Given the description of an element on the screen output the (x, y) to click on. 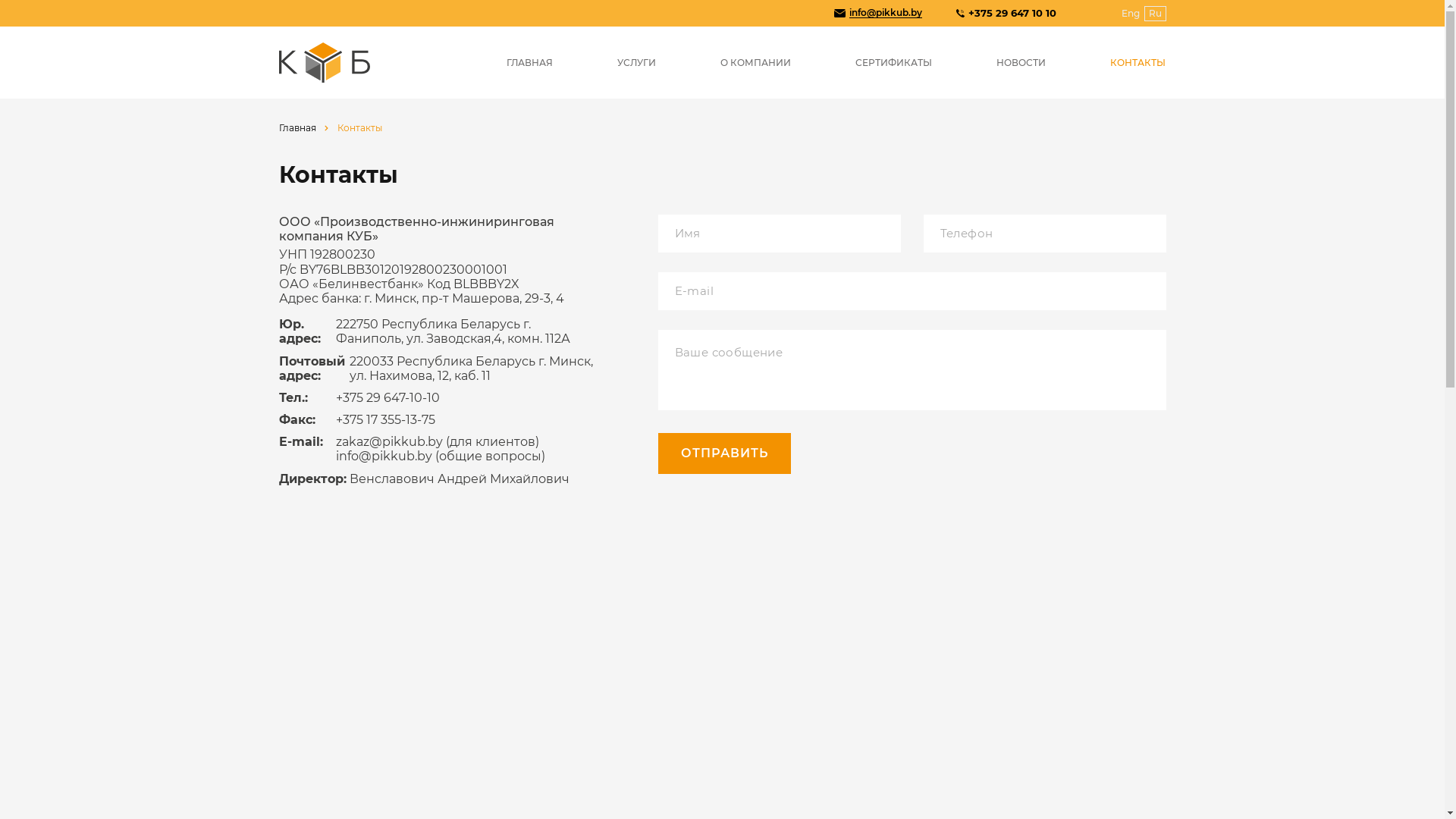
+375 29 647 10 10 Element type: text (1011, 13)
Eng Element type: text (1130, 13)
info@pikkub.by Element type: text (885, 13)
+375 29 647-10-10 Element type: text (387, 397)
Ru Element type: text (1154, 13)
